Given the description of an element on the screen output the (x, y) to click on. 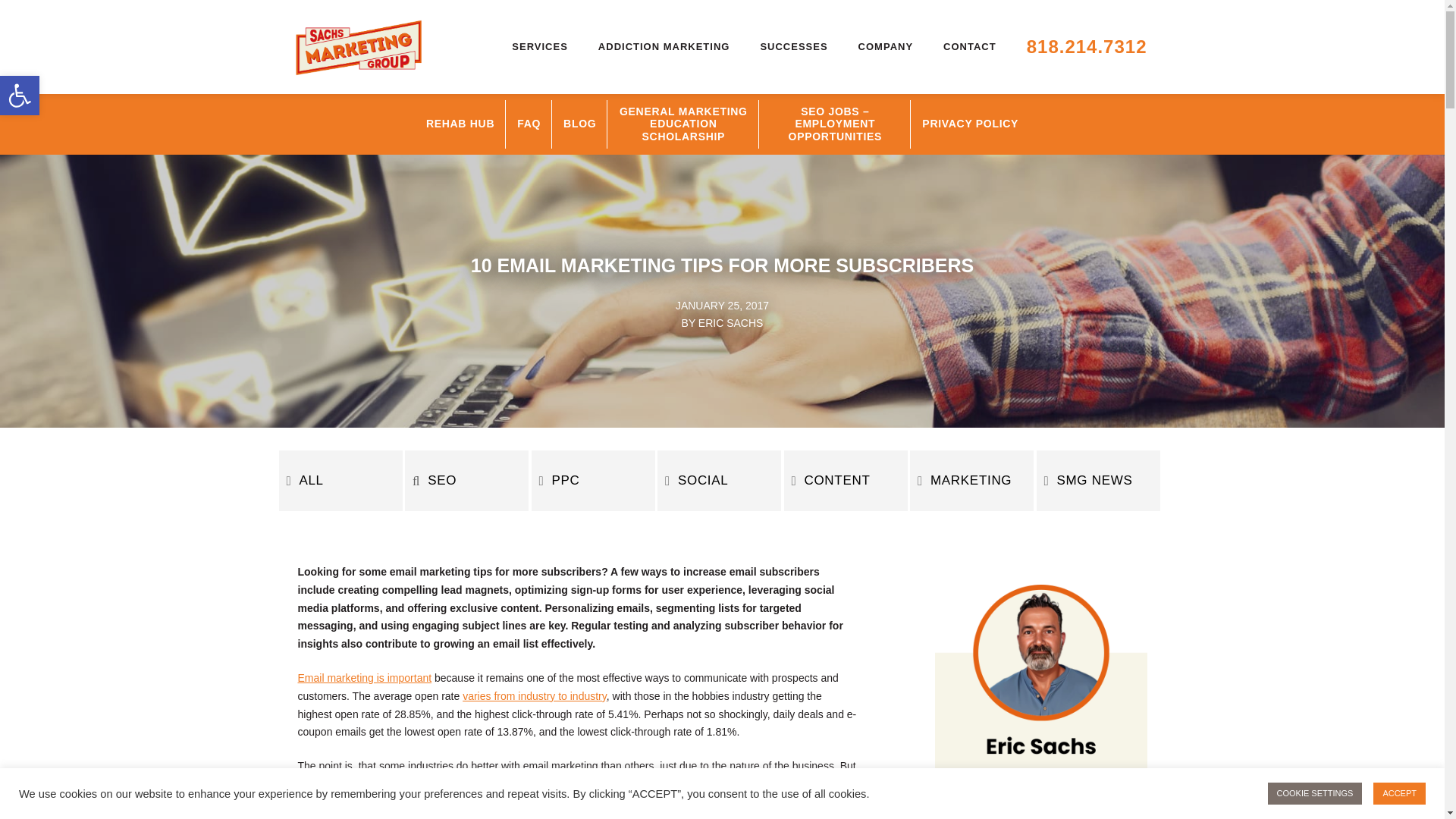
SEO (466, 480)
ADDICTION MARKETING (664, 46)
Accessibility Tools (19, 95)
BLOG (579, 124)
Email marketing is important (363, 677)
SMG NEWS (1096, 480)
ALL (341, 480)
REHAB HUB (459, 124)
818.214.7312 (1086, 46)
CONTACT (969, 46)
SERVICES (539, 46)
COMPANY (885, 46)
Accessibility Tools (19, 95)
PPC (19, 95)
